Given the description of an element on the screen output the (x, y) to click on. 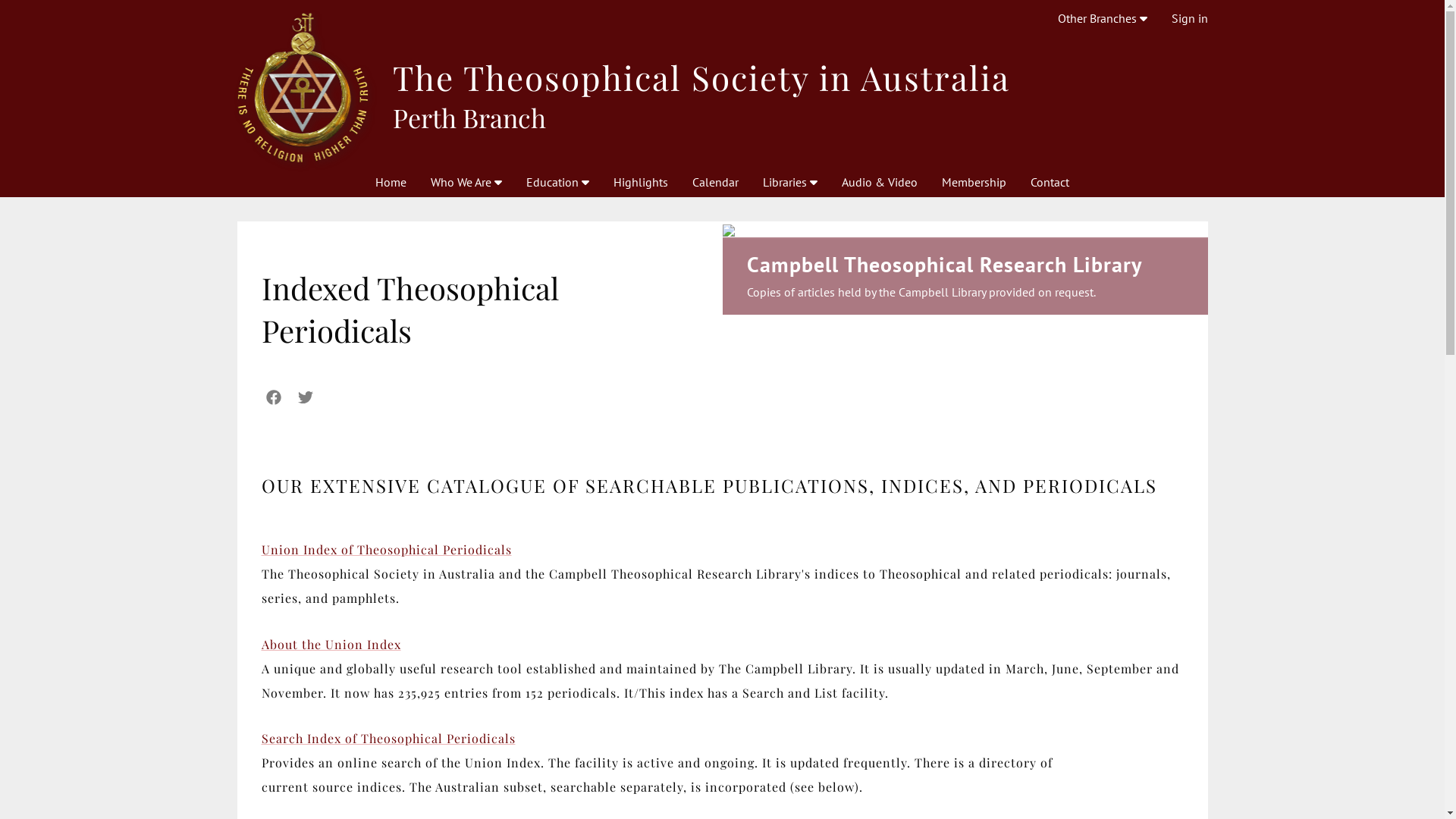
The Theosophical
Society in Australia
Perth Branch Element type: text (721, 87)
Libraries Element type: text (789, 181)
Audio & Video Element type: text (879, 181)
Union Index of Theosophical Periodicals Element type: text (385, 549)
Who We Are Element type: text (466, 181)
Search Index of Theosophical Periodicals Element type: text (387, 738)
About the Union Index Element type: text (330, 644)
Sign in Element type: text (1188, 18)
Highlights Element type: text (640, 181)
Calendar Element type: text (715, 181)
Contact Element type: text (1049, 181)
Home Element type: text (390, 181)
Membership Element type: text (973, 181)
Other Branches Element type: text (1101, 18)
Education Element type: text (557, 181)
